Given the description of an element on the screen output the (x, y) to click on. 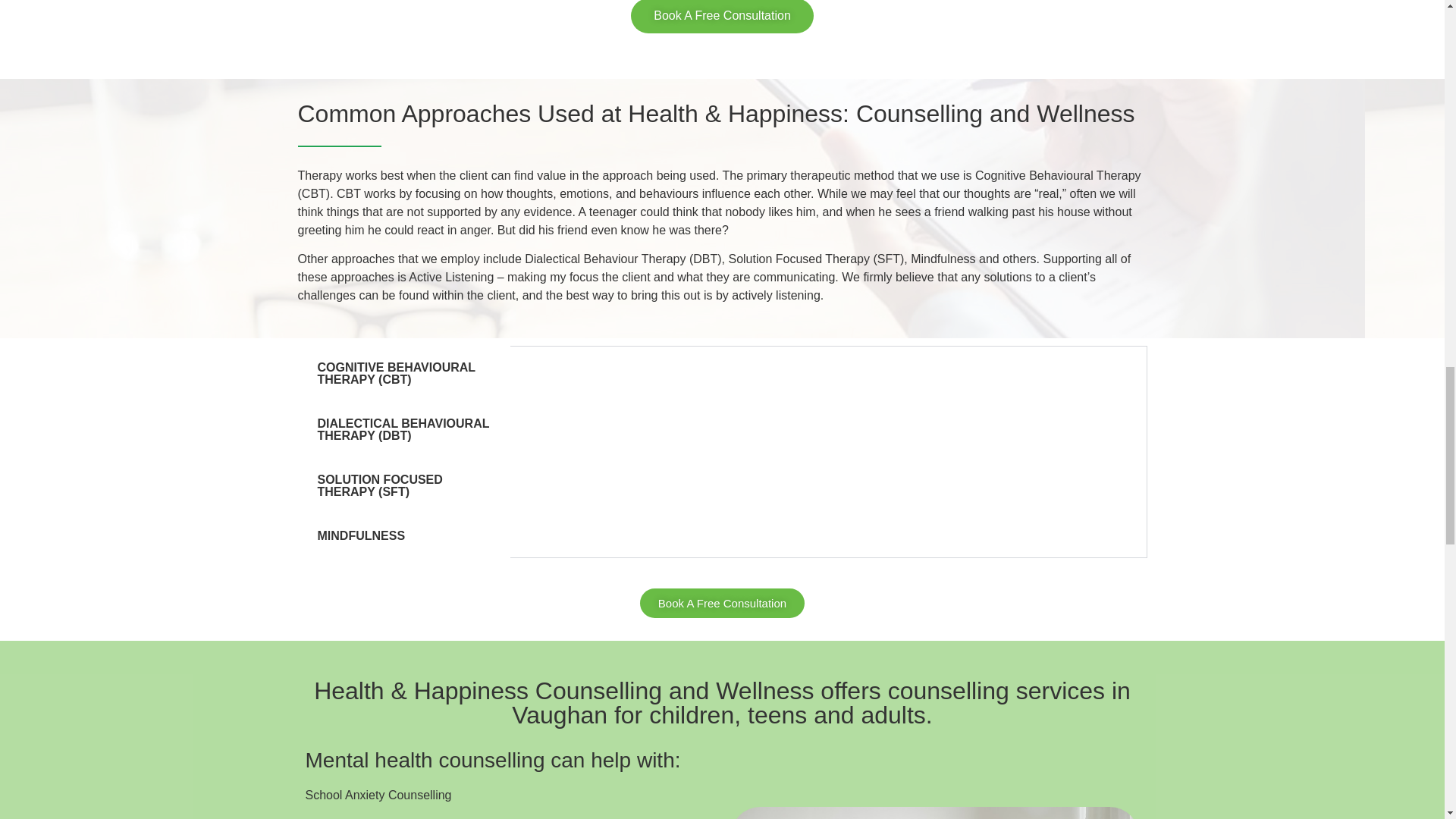
Book A Free Consultation (722, 603)
Book A Free Consultation (721, 16)
